Given the description of an element on the screen output the (x, y) to click on. 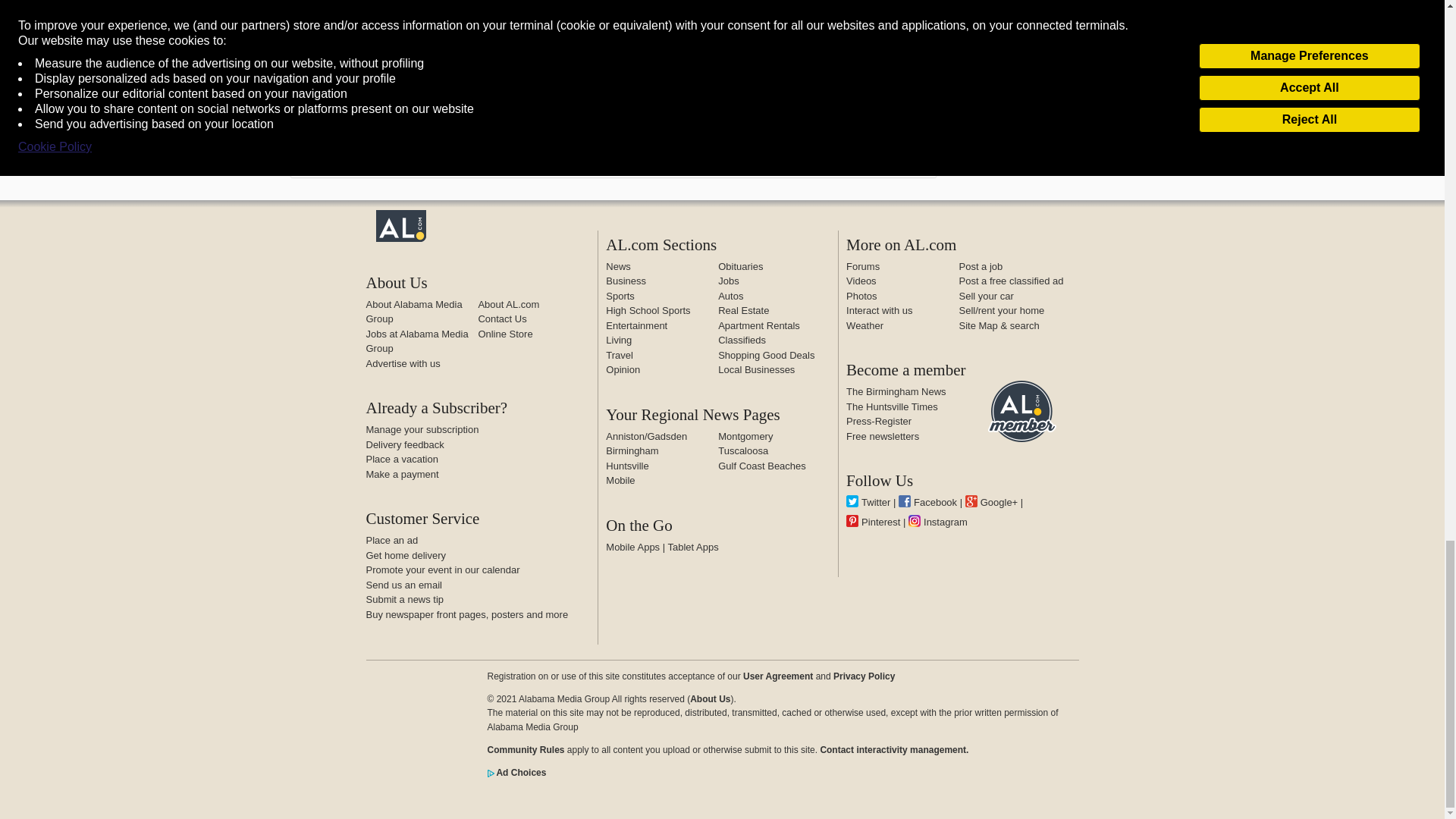
Community Rules (893, 749)
User Agreement (777, 675)
Contact Us (501, 318)
Privacy Policy (863, 675)
Al.com member logo (1022, 411)
Community Rules (525, 749)
